Given the description of an element on the screen output the (x, y) to click on. 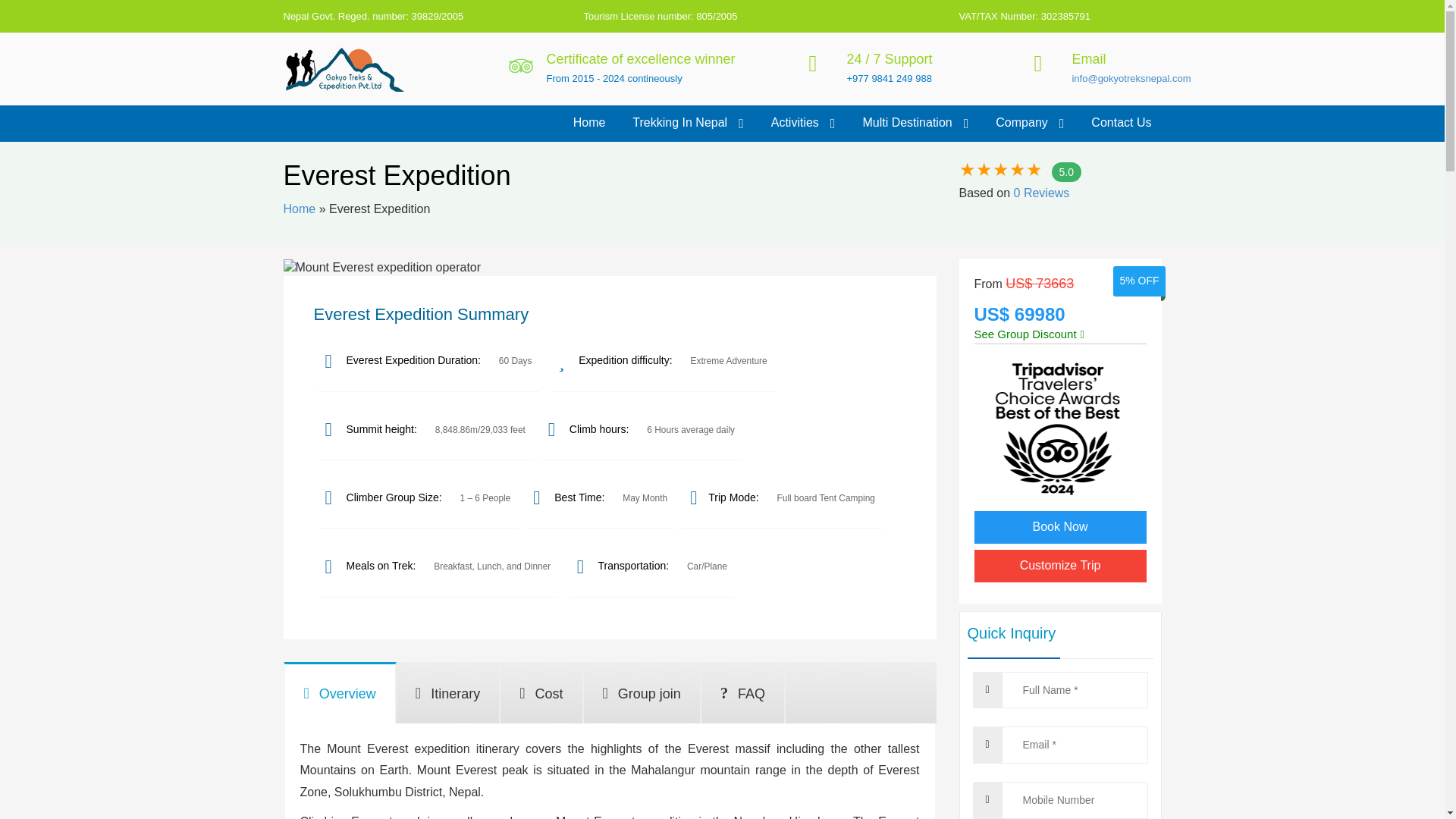
Mount Everest expedition (382, 267)
Gokyo Treks Nepal (335, 101)
Trekking In Nepal (687, 123)
Home (589, 123)
